Given the description of an element on the screen output the (x, y) to click on. 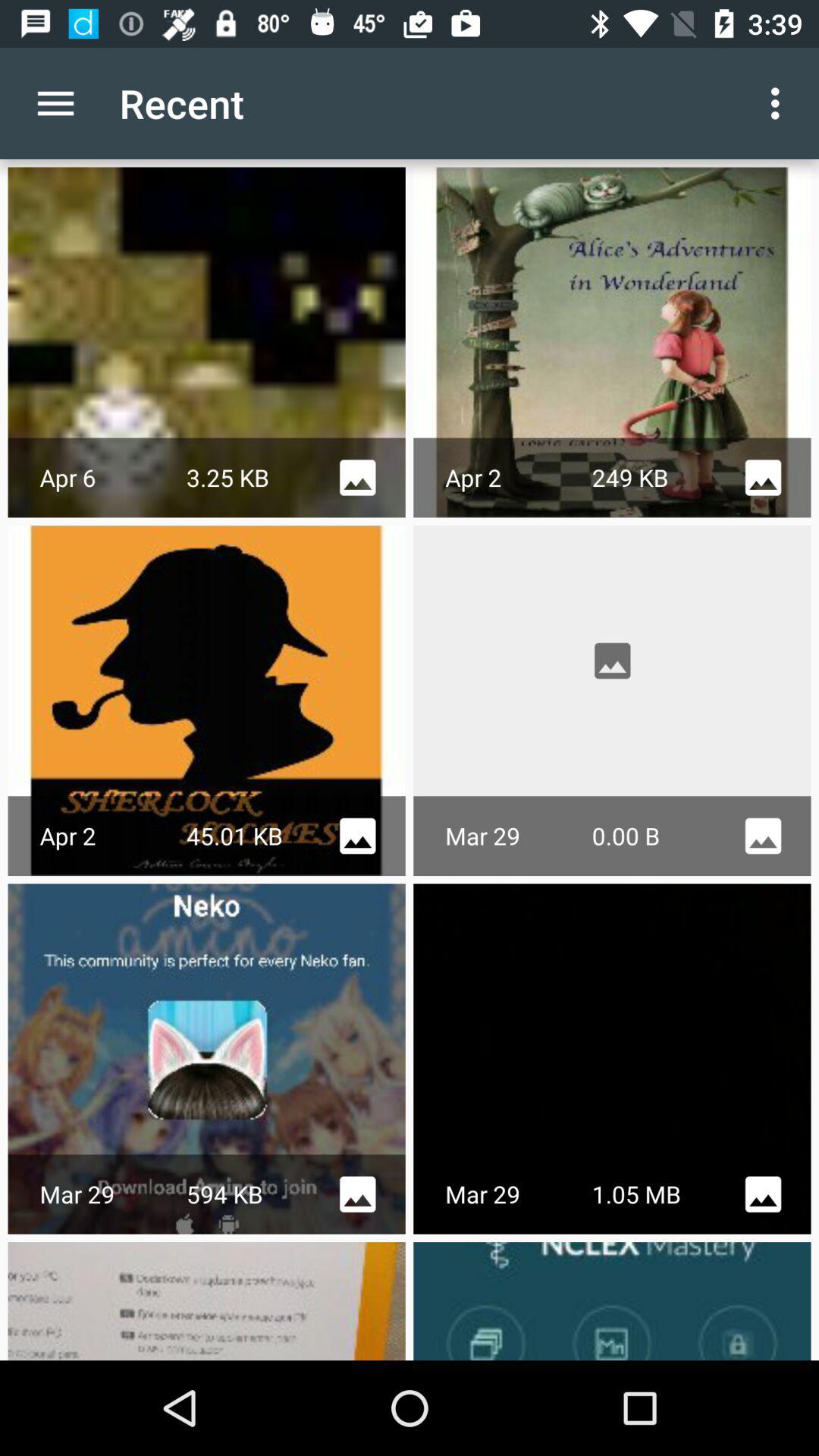
click on the image icon which is on the right 594 kb and mar 29 (357, 1194)
